Given the description of an element on the screen output the (x, y) to click on. 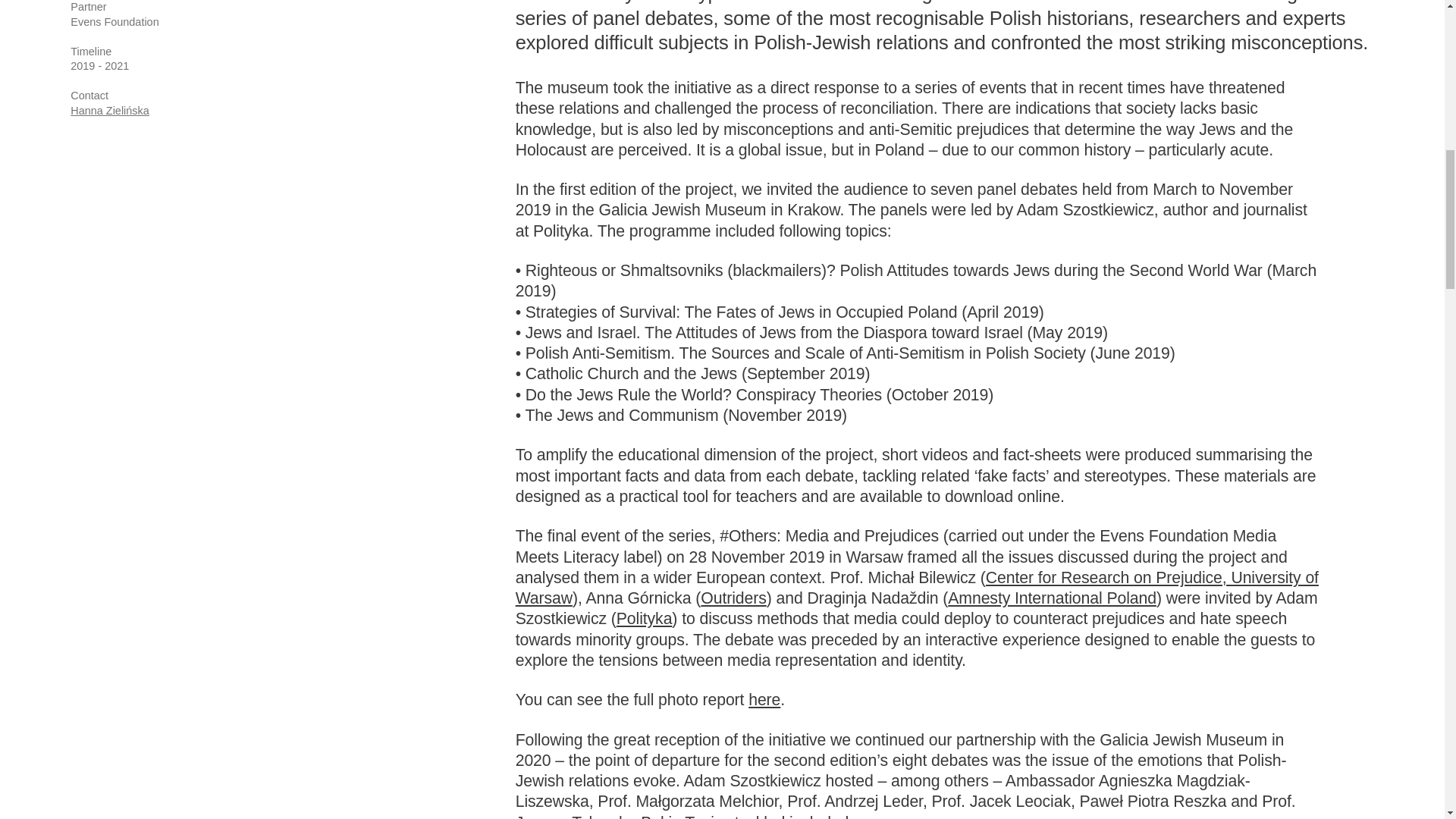
Center for Research on Prejudice, University of Warsaw (917, 587)
Amnesty International Poland (1051, 597)
here (764, 700)
Polityka (643, 618)
Outriders (732, 597)
